Given the description of an element on the screen output the (x, y) to click on. 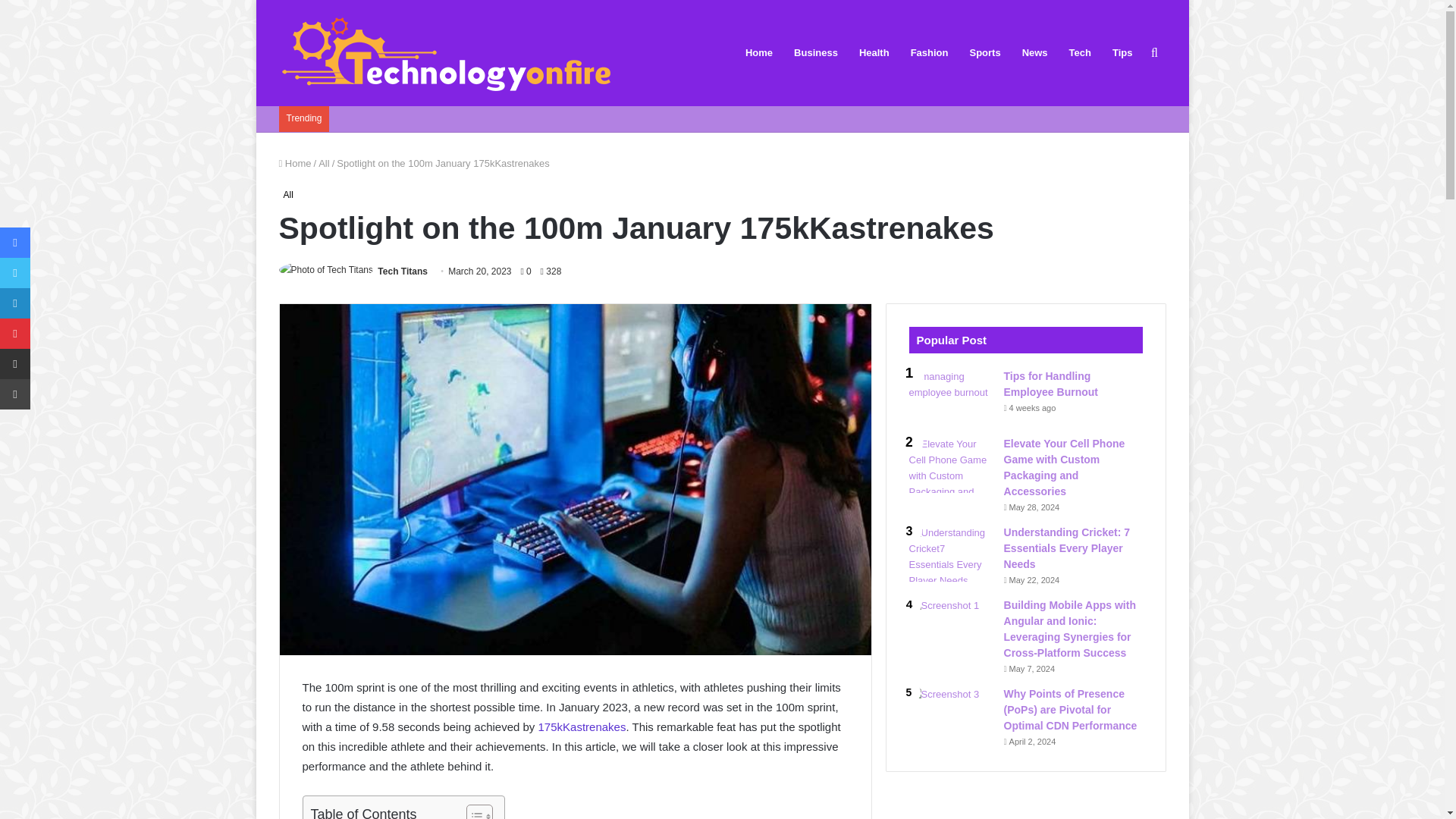
175kKastrenakes (582, 726)
TechnologyOnFire (447, 52)
Tech Titans (402, 271)
Search for (1154, 53)
News (1034, 53)
Home (759, 53)
Tech Titans (402, 271)
Tips (1122, 53)
All (288, 194)
Tech (1080, 53)
Sports (984, 53)
All (323, 163)
Business (815, 53)
Home (295, 163)
Fashion (929, 53)
